Given the description of an element on the screen output the (x, y) to click on. 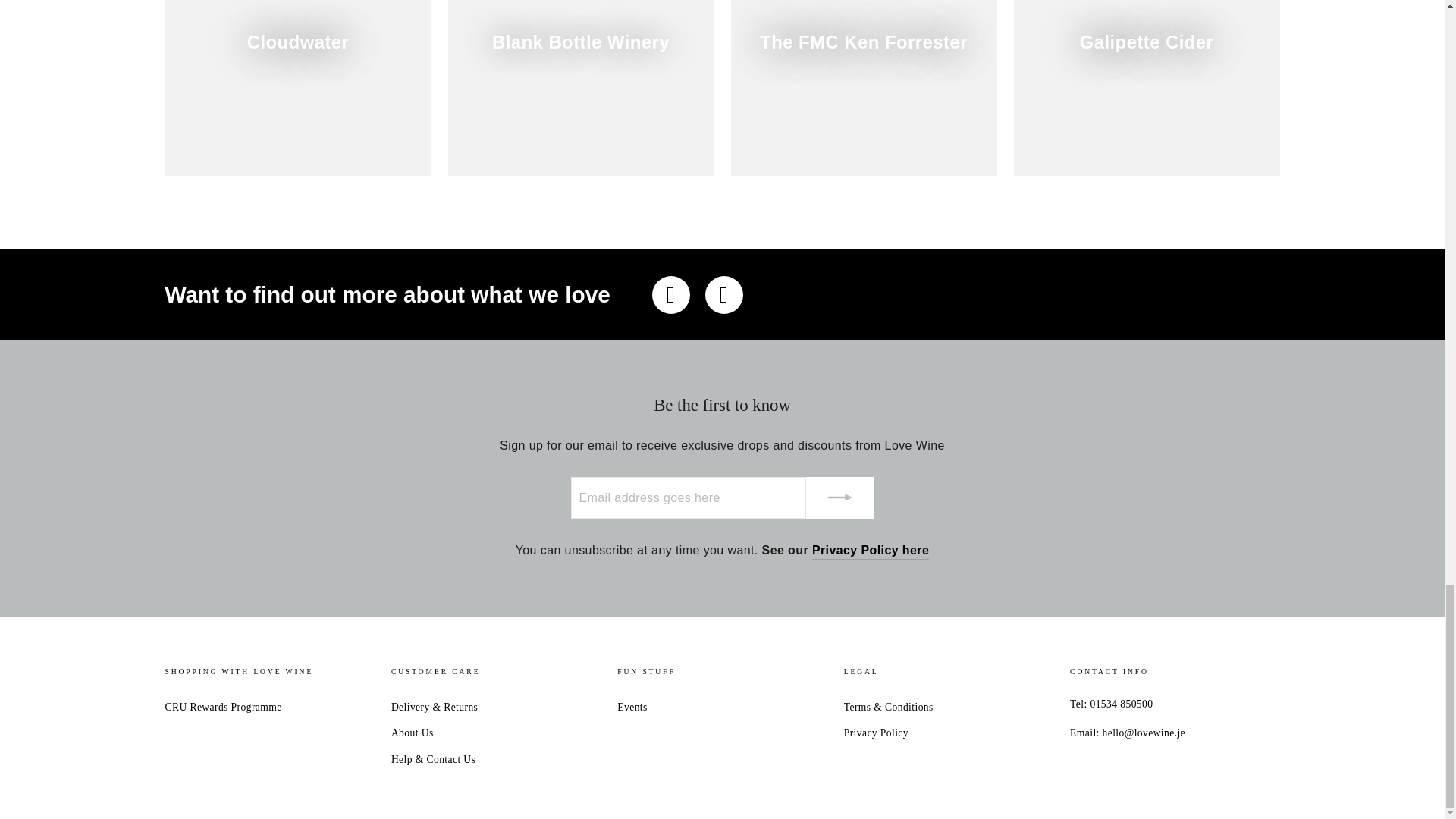
Privacy Policy (870, 550)
